Given the description of an element on the screen output the (x, y) to click on. 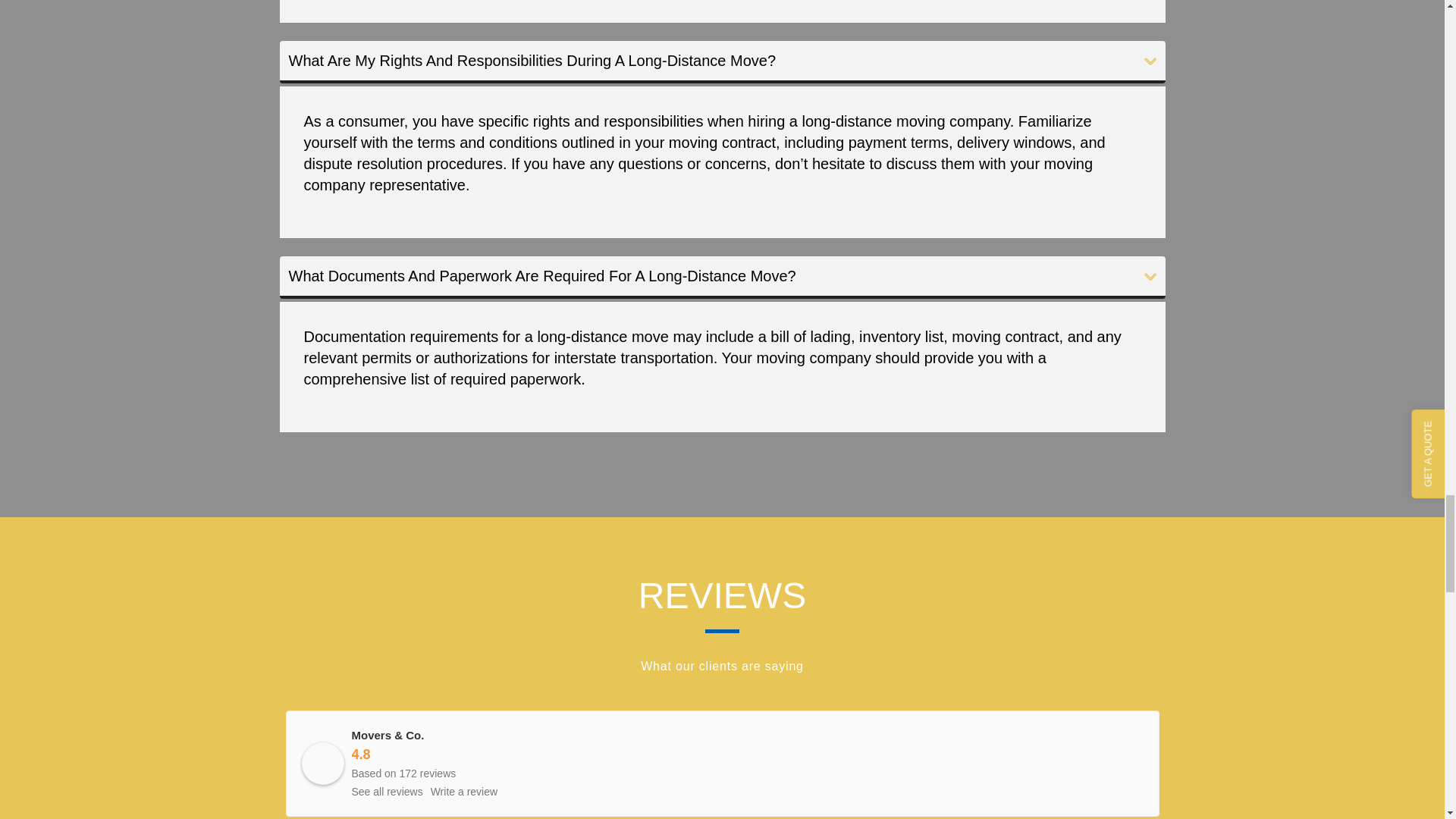
Arrow Down (1149, 61)
Arrow Down (1149, 276)
